Given the description of an element on the screen output the (x, y) to click on. 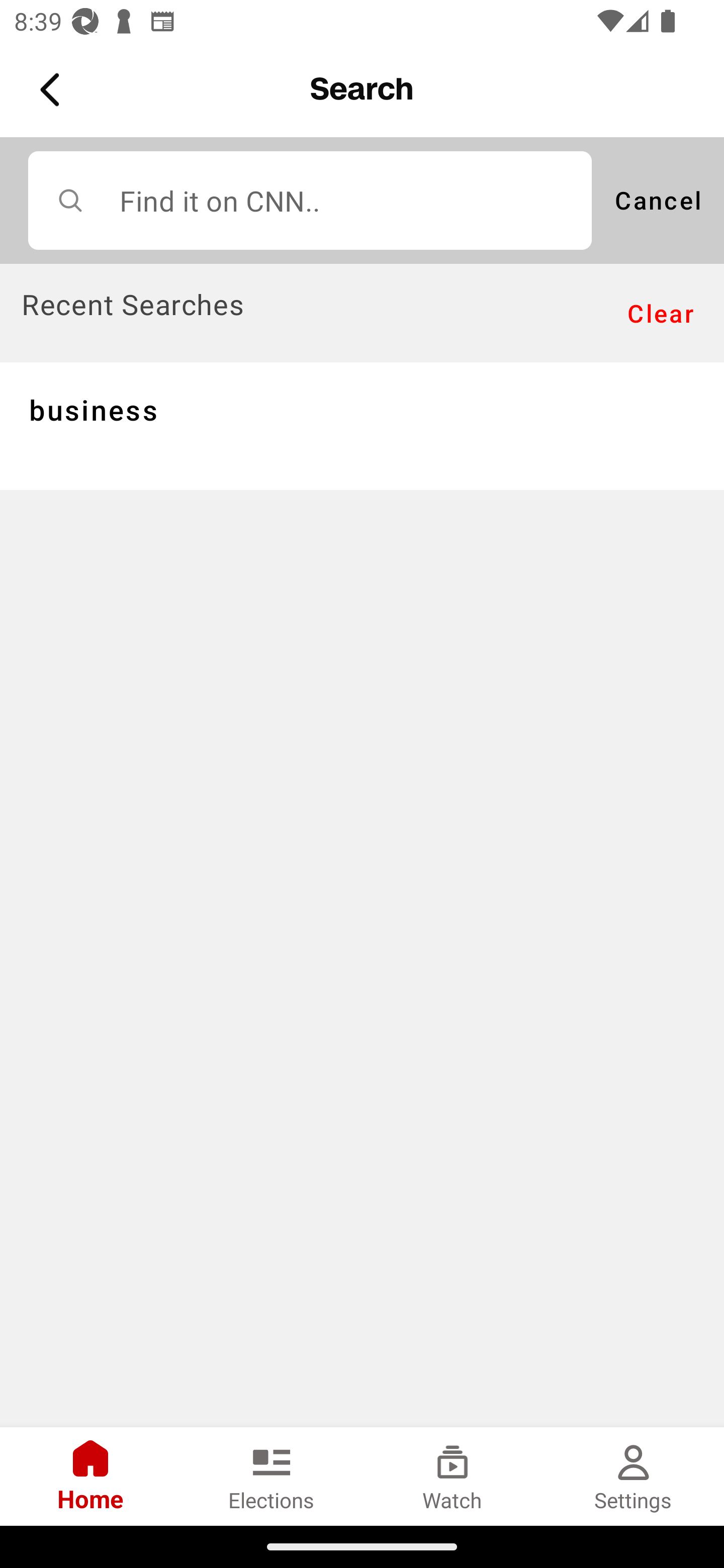
Back Button (52, 89)
Cancel (657, 199)
Find it on CNN.. (309, 199)
Clear (660, 313)
business
 (362, 425)
Elections (271, 1475)
Watch (452, 1475)
Settings (633, 1475)
